Given the description of an element on the screen output the (x, y) to click on. 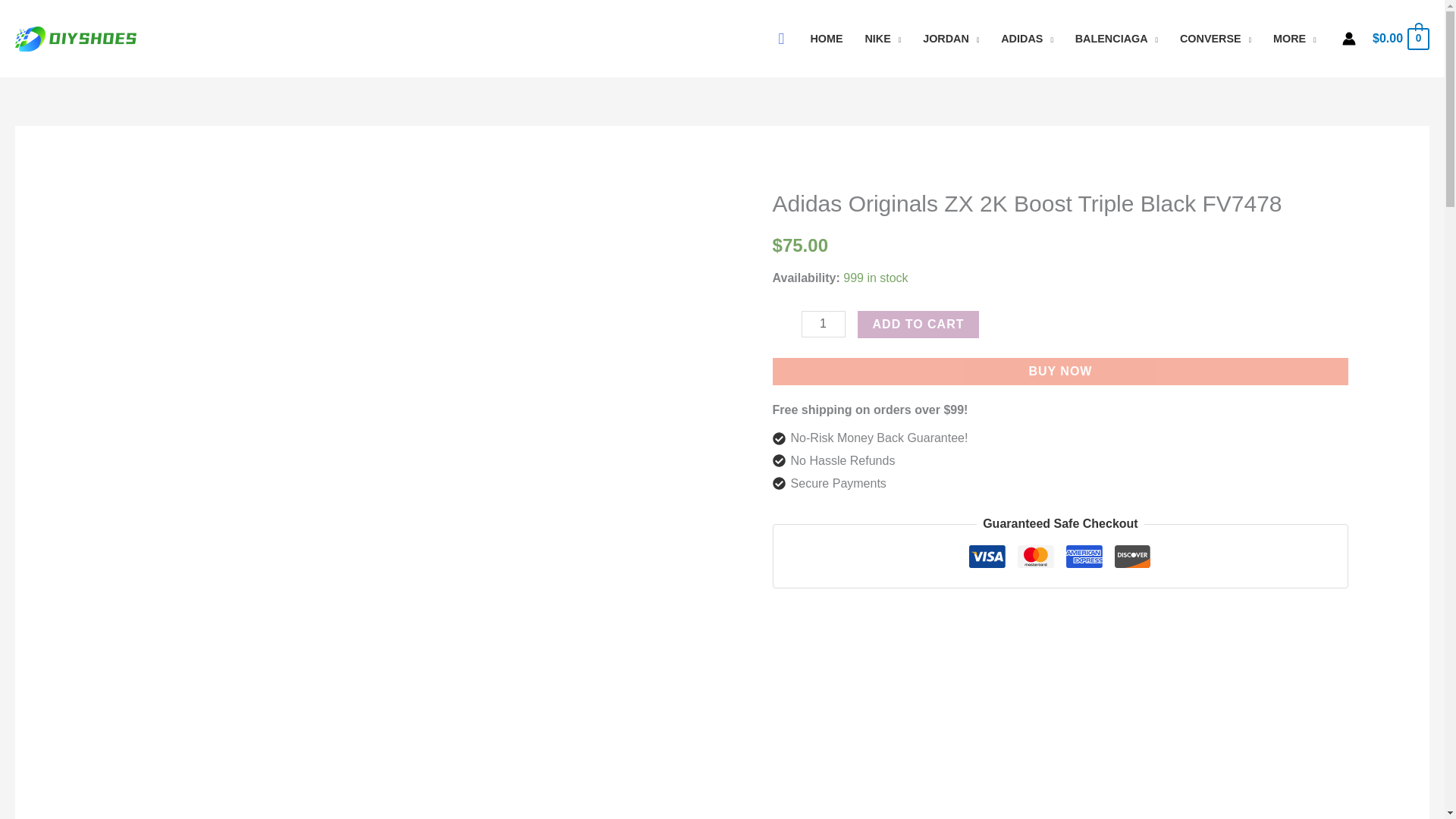
JORDAN (951, 38)
HOME (826, 38)
ADIDAS (1027, 38)
1 (823, 324)
NIKE (882, 38)
